Given the description of an element on the screen output the (x, y) to click on. 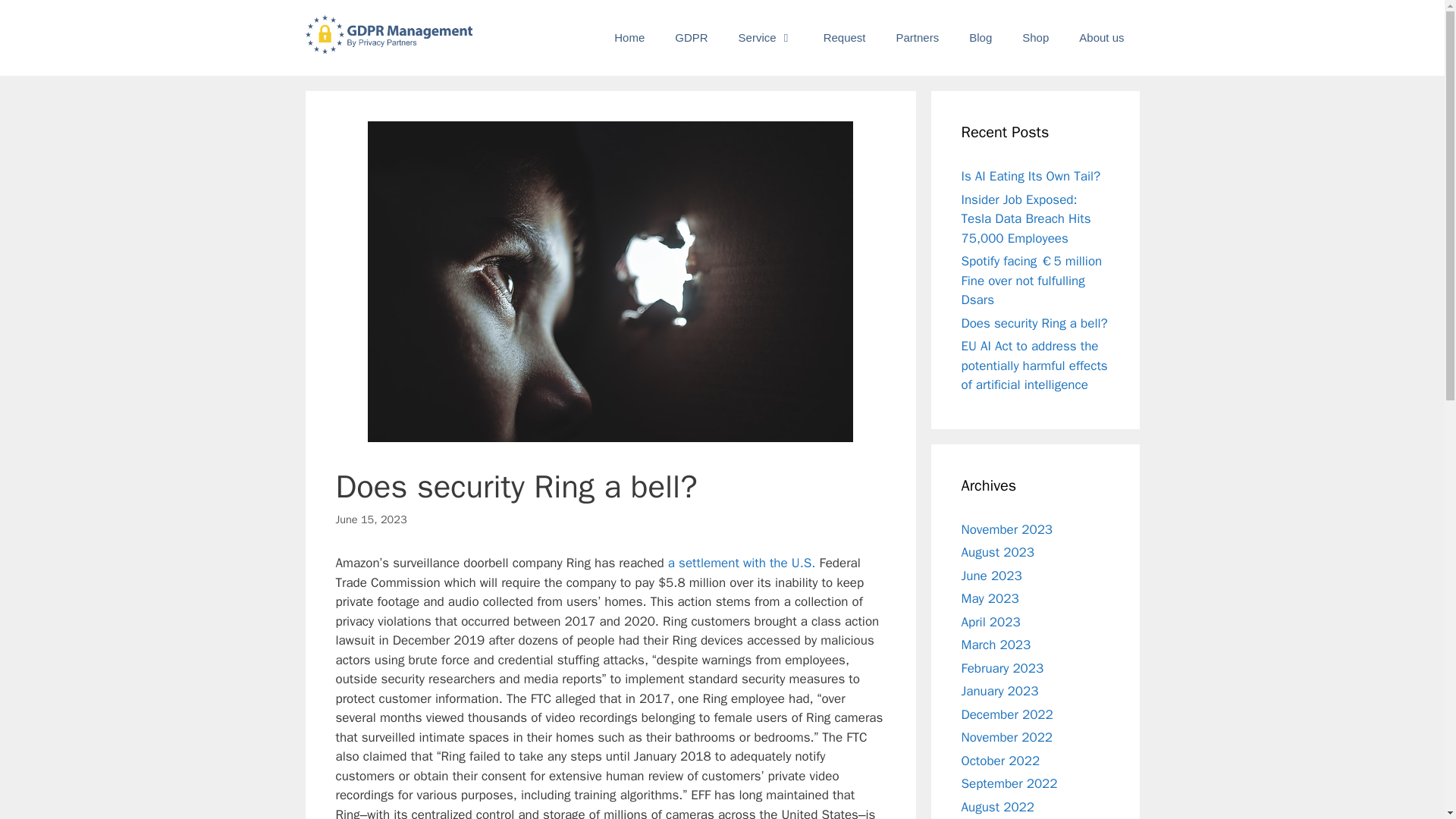
Is AI Eating Its Own Tail? (1030, 176)
Request (844, 37)
June 2023 (991, 575)
a settlement with the U.S. (741, 562)
April 2023 (990, 621)
Shop (1035, 37)
Partners (917, 37)
Home (628, 37)
Service (765, 37)
Insider Job Exposed: Tesla Data Breach Hits 75,000 Employees (1025, 217)
